Given the description of an element on the screen output the (x, y) to click on. 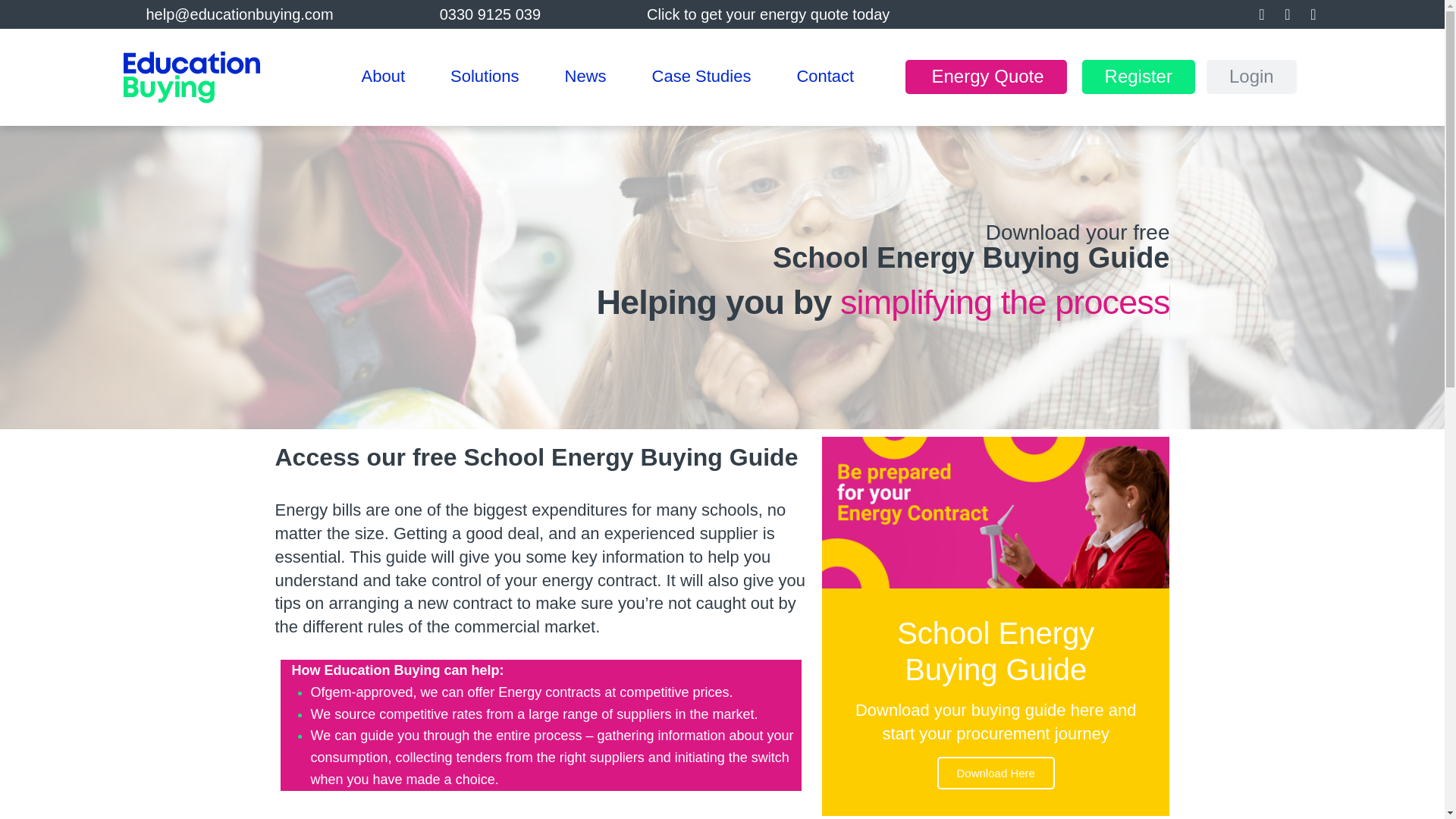
About (382, 77)
0330 9125 039 (489, 13)
Solutions (484, 77)
Click to get your energy quote today (767, 13)
